Given the description of an element on the screen output the (x, y) to click on. 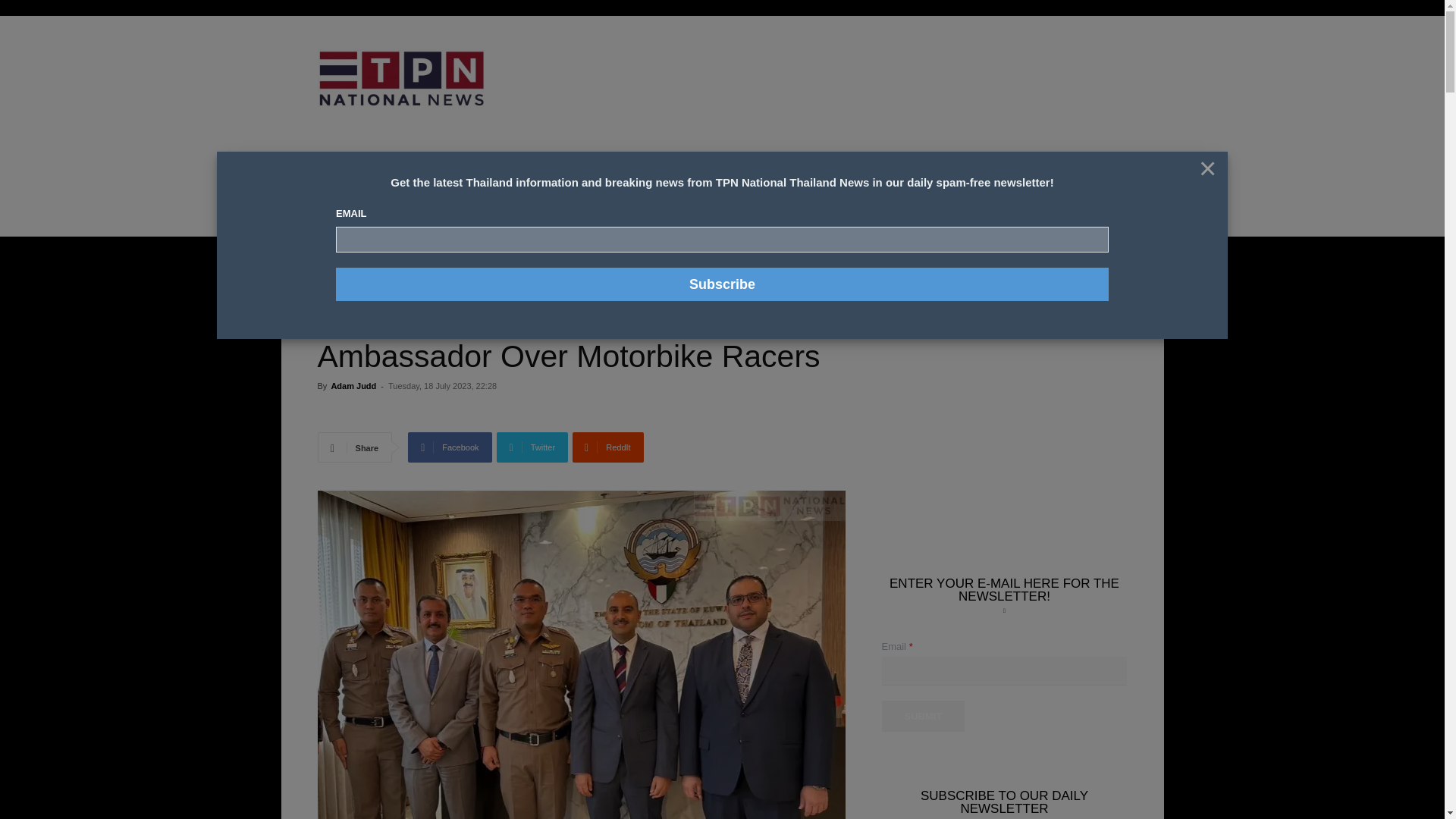
CRIME (423, 181)
WORLD (678, 181)
ADVERTISE WITH US (752, 181)
SPORTS (472, 181)
Search (1099, 287)
POLITICS (624, 181)
Advertisement (846, 95)
NATIONAL (370, 181)
Featured Thailand News (405, 259)
The Pattaya News National, Thailand News (425, 78)
Thailand National News (671, 281)
Featured Thailand News (363, 281)
Home (328, 259)
The Pattaya News National, Thailand News (400, 78)
Law, Legal, Courts (448, 281)
